Given the description of an element on the screen output the (x, y) to click on. 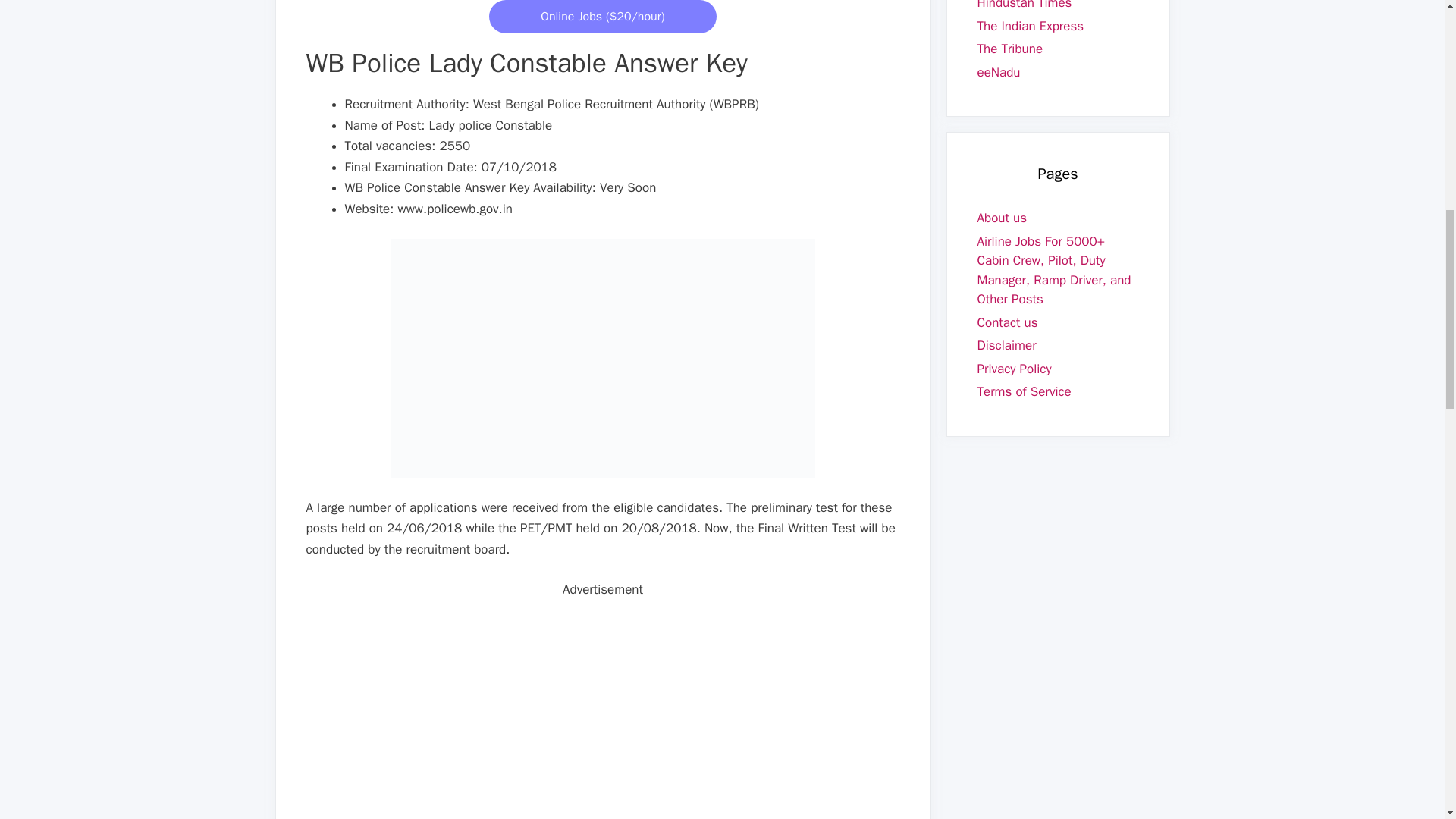
WB Lady Constable Answer Key (602, 358)
